Given the description of an element on the screen output the (x, y) to click on. 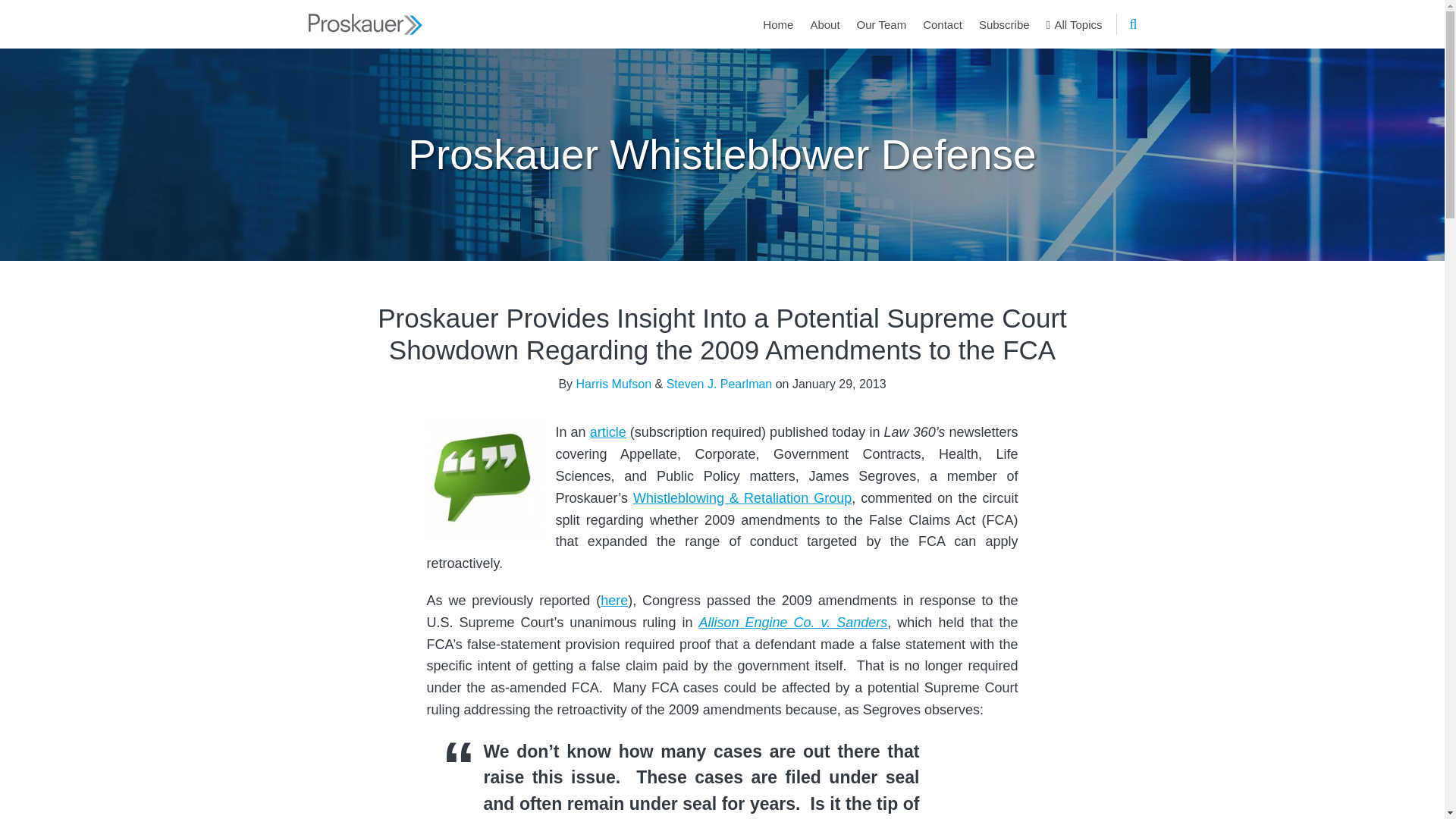
Harris Mufson (614, 383)
About (824, 24)
Allison Engine Co. v. Sanders (792, 622)
article (607, 432)
Home (777, 24)
Proskauer Whistleblower Defense (721, 153)
here (613, 600)
Subscribe (1003, 24)
Steven J. Pearlman (719, 383)
All Topics (1074, 24)
